Given the description of an element on the screen output the (x, y) to click on. 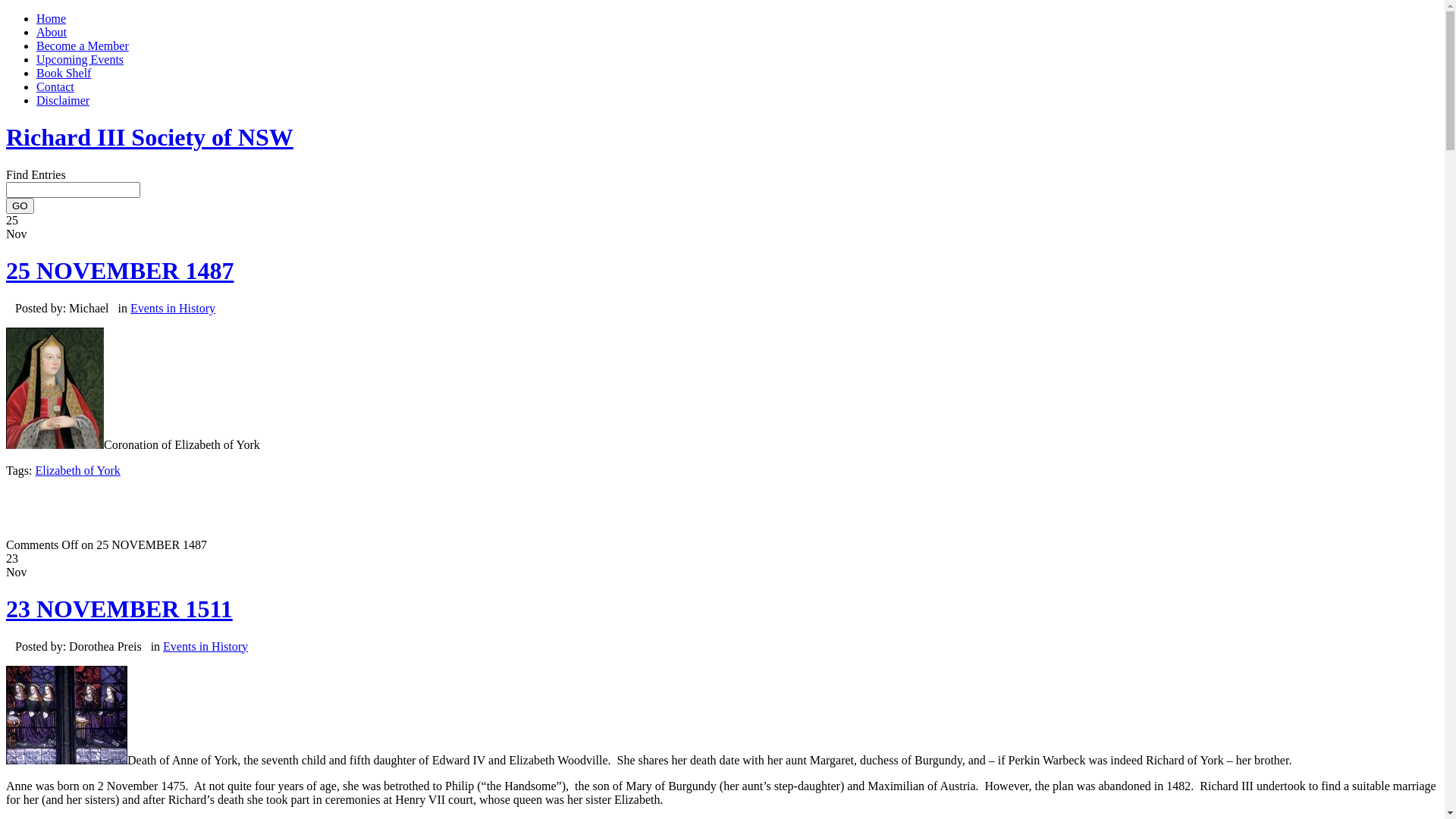
23 NOVEMBER 1511 Element type: text (119, 608)
Home Element type: text (50, 18)
Events in History Element type: text (205, 646)
Become a Member Element type: text (82, 45)
Disclaimer Element type: text (62, 100)
Events in History Element type: text (172, 307)
Elizabeth of York Element type: text (76, 470)
About Element type: text (51, 31)
Upcoming Events Element type: text (79, 59)
Book Shelf Element type: text (63, 72)
Richard III Society of NSW Element type: text (149, 136)
Contact Element type: text (55, 86)
25 NOVEMBER 1487 Element type: text (119, 270)
The_Daughters_of_Edward_IV Element type: hover (66, 714)
Elizabeth of York sml (50) Element type: hover (54, 387)
GO Element type: text (20, 205)
